Given the description of an element on the screen output the (x, y) to click on. 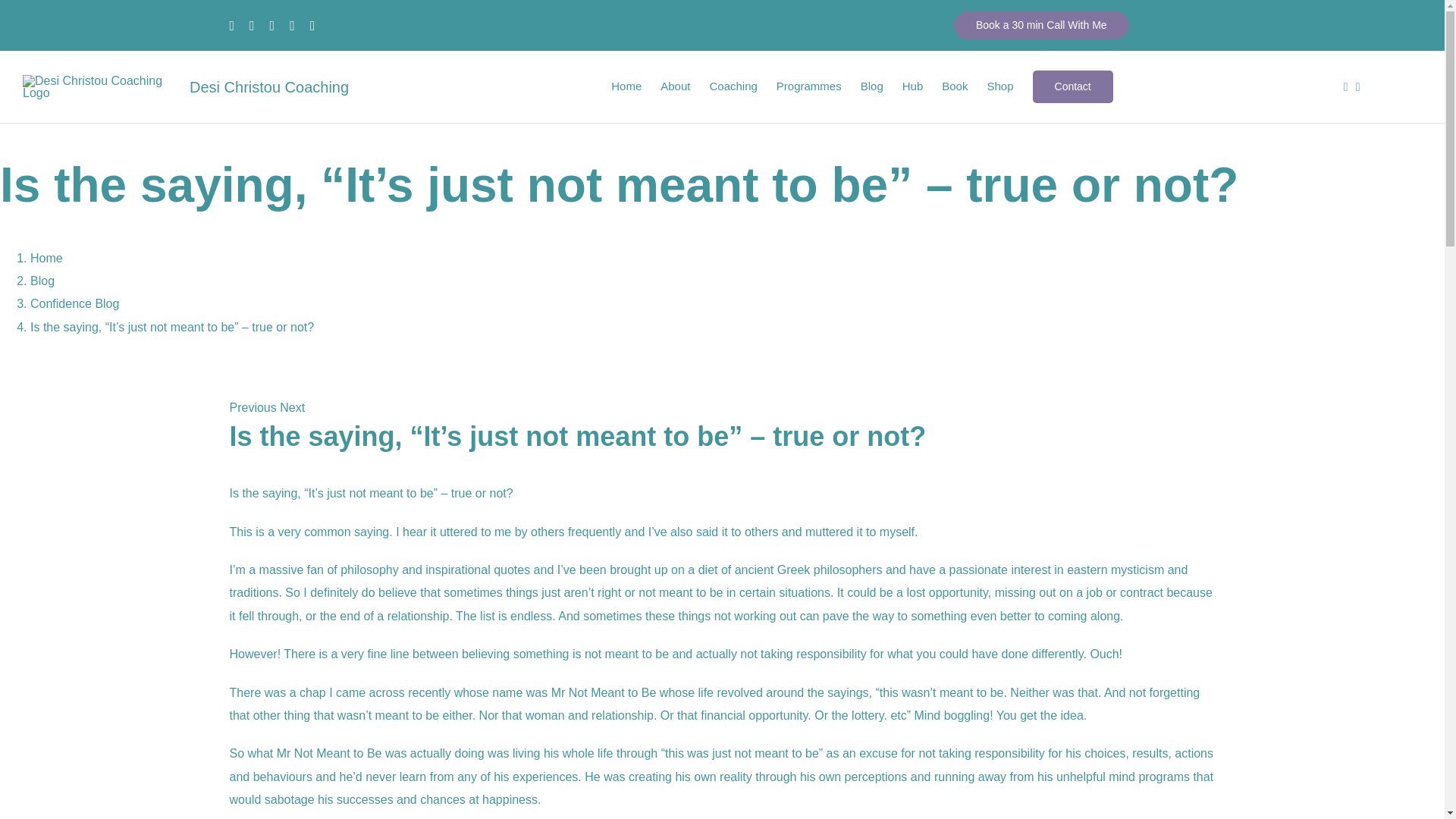
Hub (912, 86)
Coaching (733, 86)
Blog (871, 86)
Home (626, 86)
Book (955, 86)
About (675, 86)
Contact (1072, 86)
Book a 30 min Call With Me (1041, 25)
Shop (1000, 86)
Programmes (808, 86)
